Given the description of an element on the screen output the (x, y) to click on. 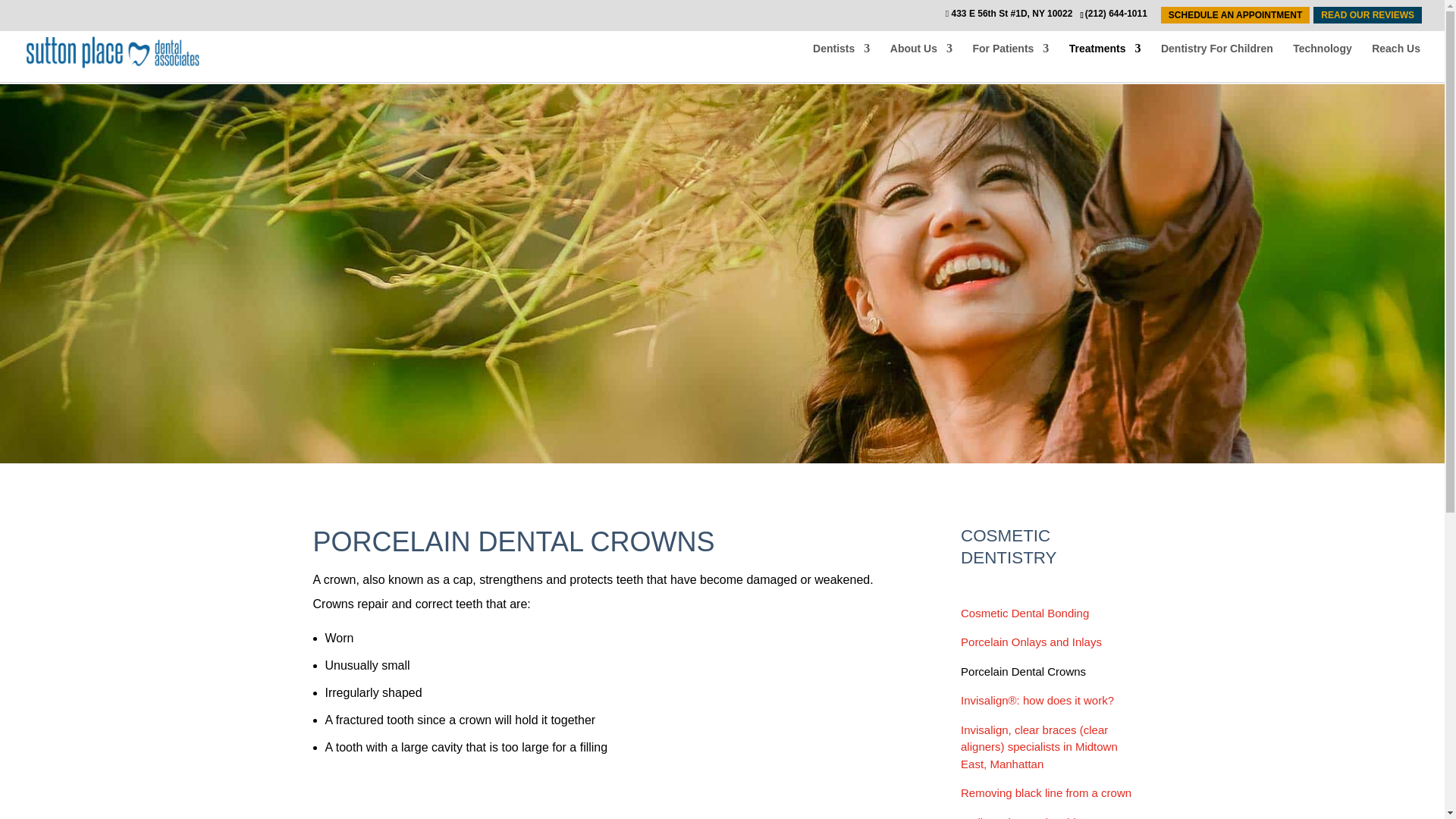
Treatments (1104, 58)
For Patients (1010, 58)
About Us (920, 58)
READ OUR REVIEWS (1367, 14)
SCHEDULE AN APPOINTMENT (1234, 14)
Dentists (840, 58)
